Given the description of an element on the screen output the (x, y) to click on. 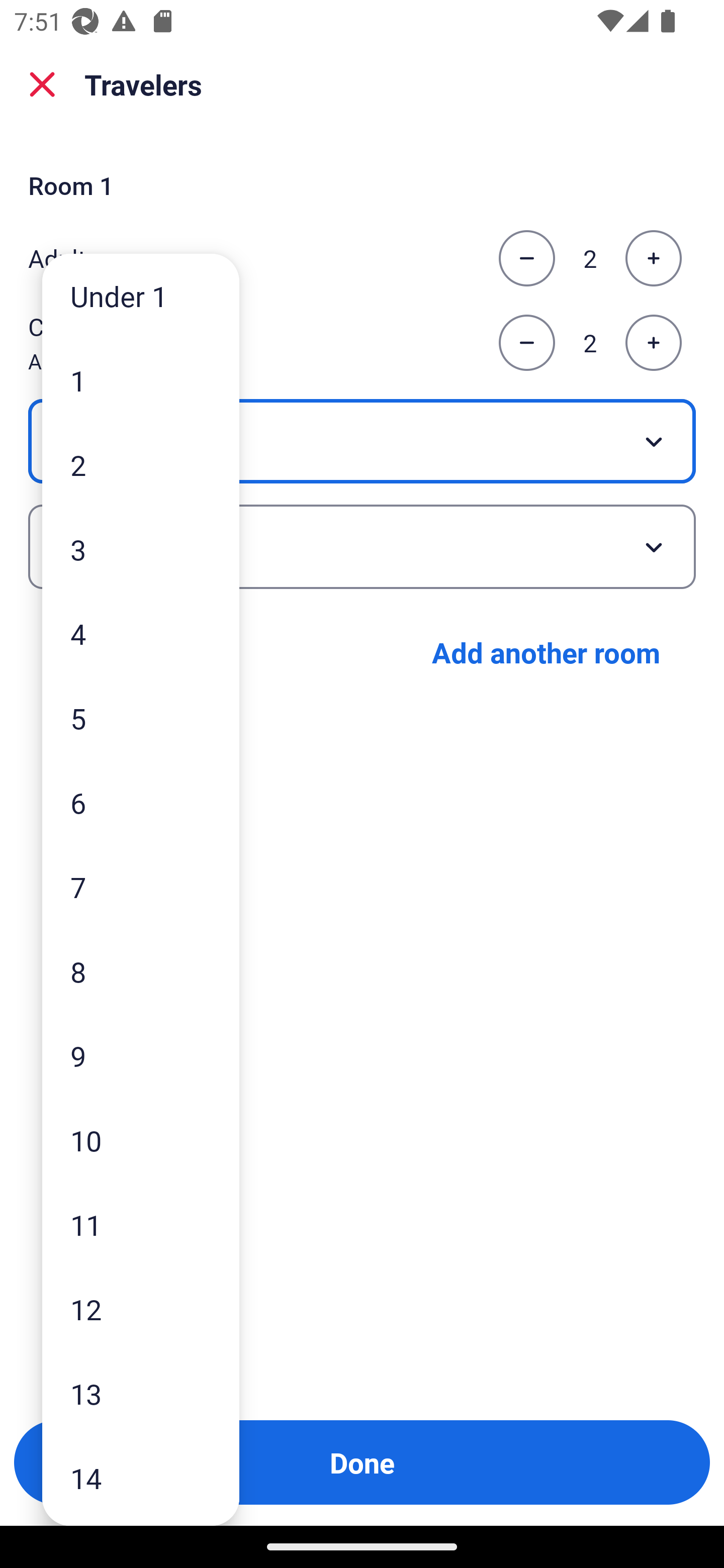
Under 1 (140, 296)
1 (140, 380)
2 (140, 464)
3 (140, 548)
4 (140, 633)
5 (140, 717)
6 (140, 802)
7 (140, 887)
8 (140, 970)
9 (140, 1054)
10 (140, 1139)
11 (140, 1224)
12 (140, 1308)
13 (140, 1393)
14 (140, 1478)
